Given the description of an element on the screen output the (x, y) to click on. 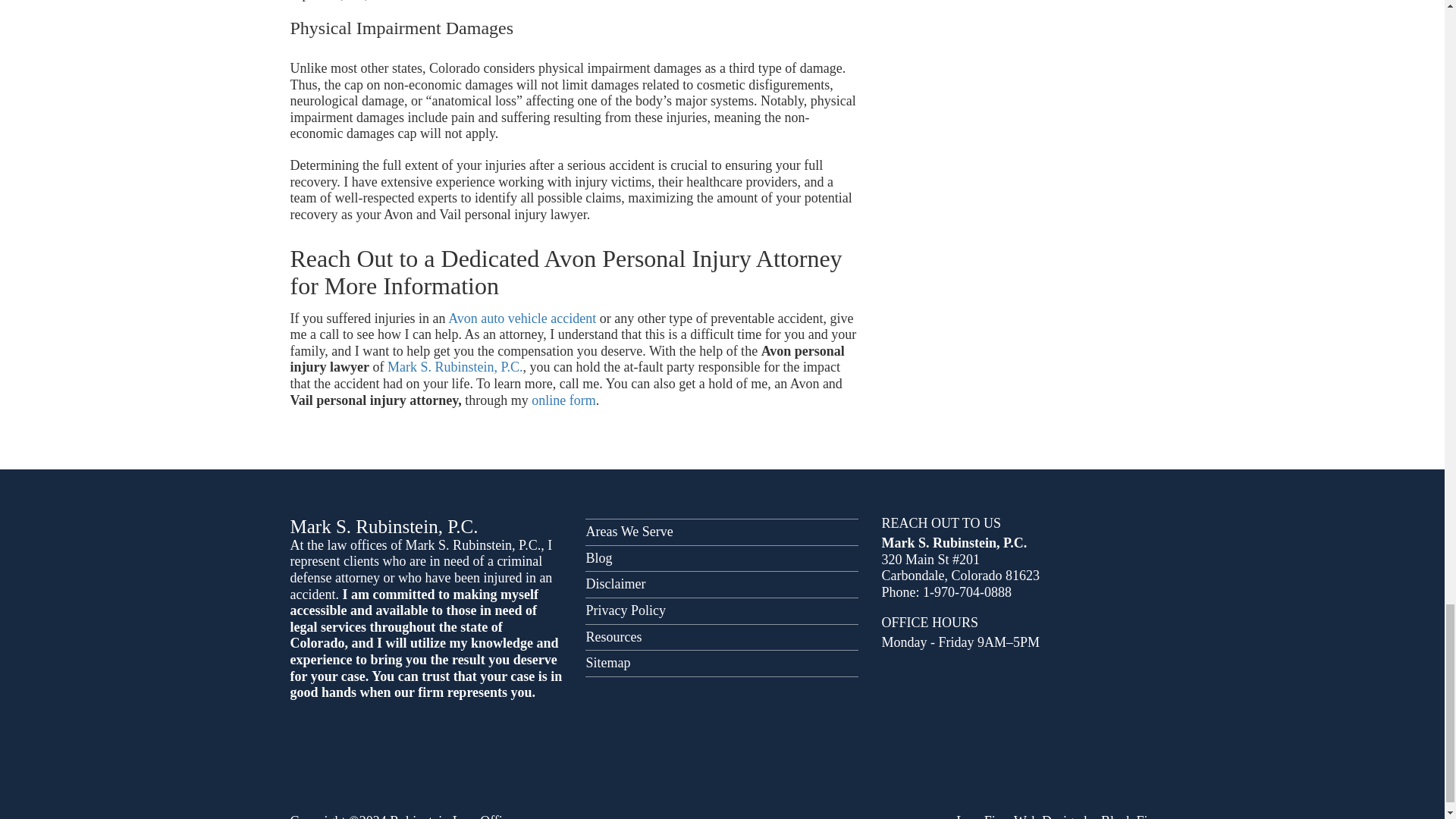
Mark S. Rubinstein, P.C. (454, 366)
Areas We Serve (722, 532)
Disclaimer (722, 584)
Black Fin (1127, 816)
online form (563, 400)
Privacy Policy (722, 610)
Avon auto vehicle accident (521, 318)
Resources (722, 637)
Sitemap (722, 663)
Blog (722, 558)
